Given the description of an element on the screen output the (x, y) to click on. 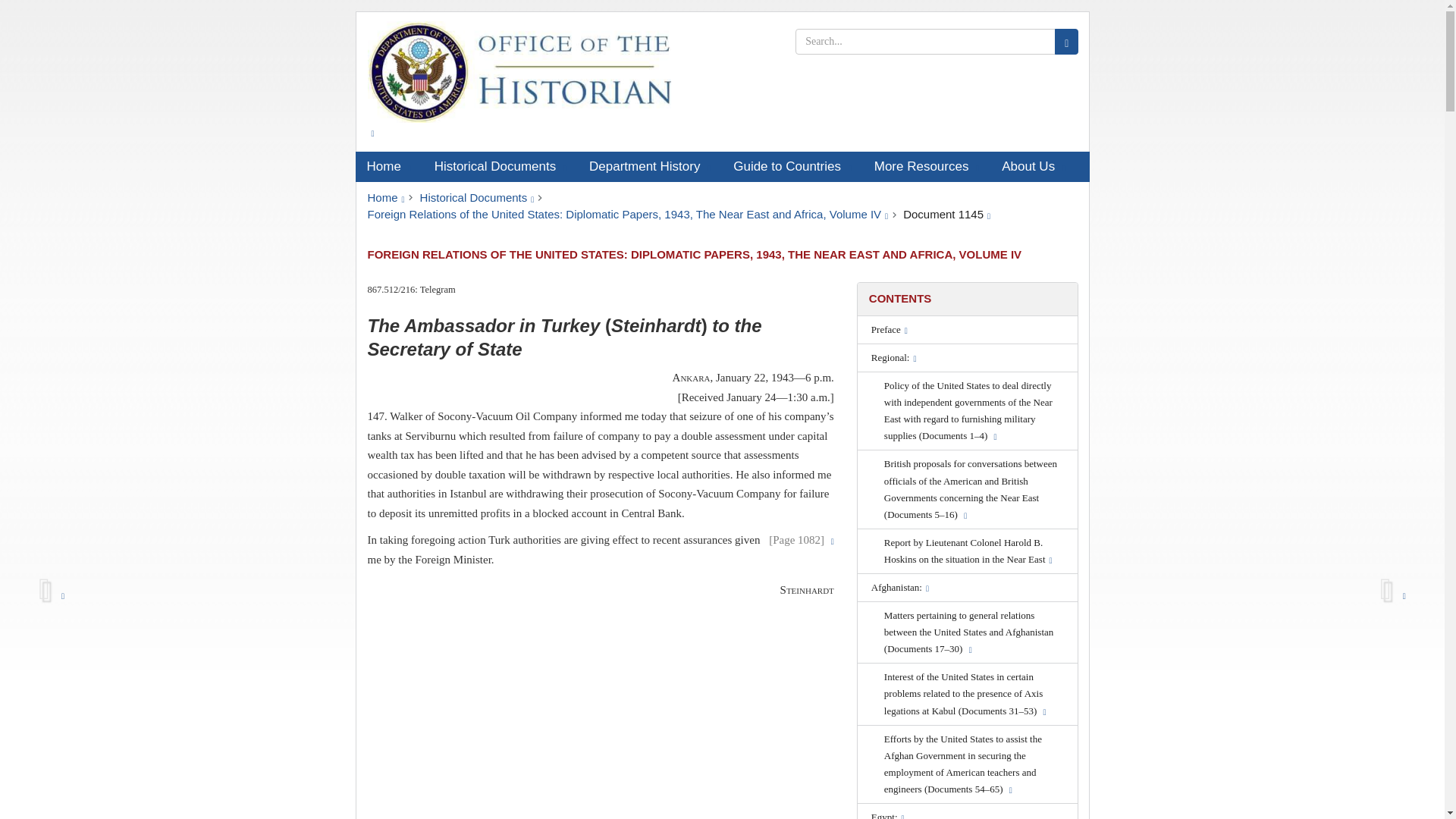
Historical Documents (477, 196)
Guide to Countries (792, 166)
More Resources (926, 166)
Historical Documents (500, 166)
Department History (650, 166)
Home (385, 196)
Home (388, 166)
About Us (1033, 166)
Document 1145 (946, 214)
